Given the description of an element on the screen output the (x, y) to click on. 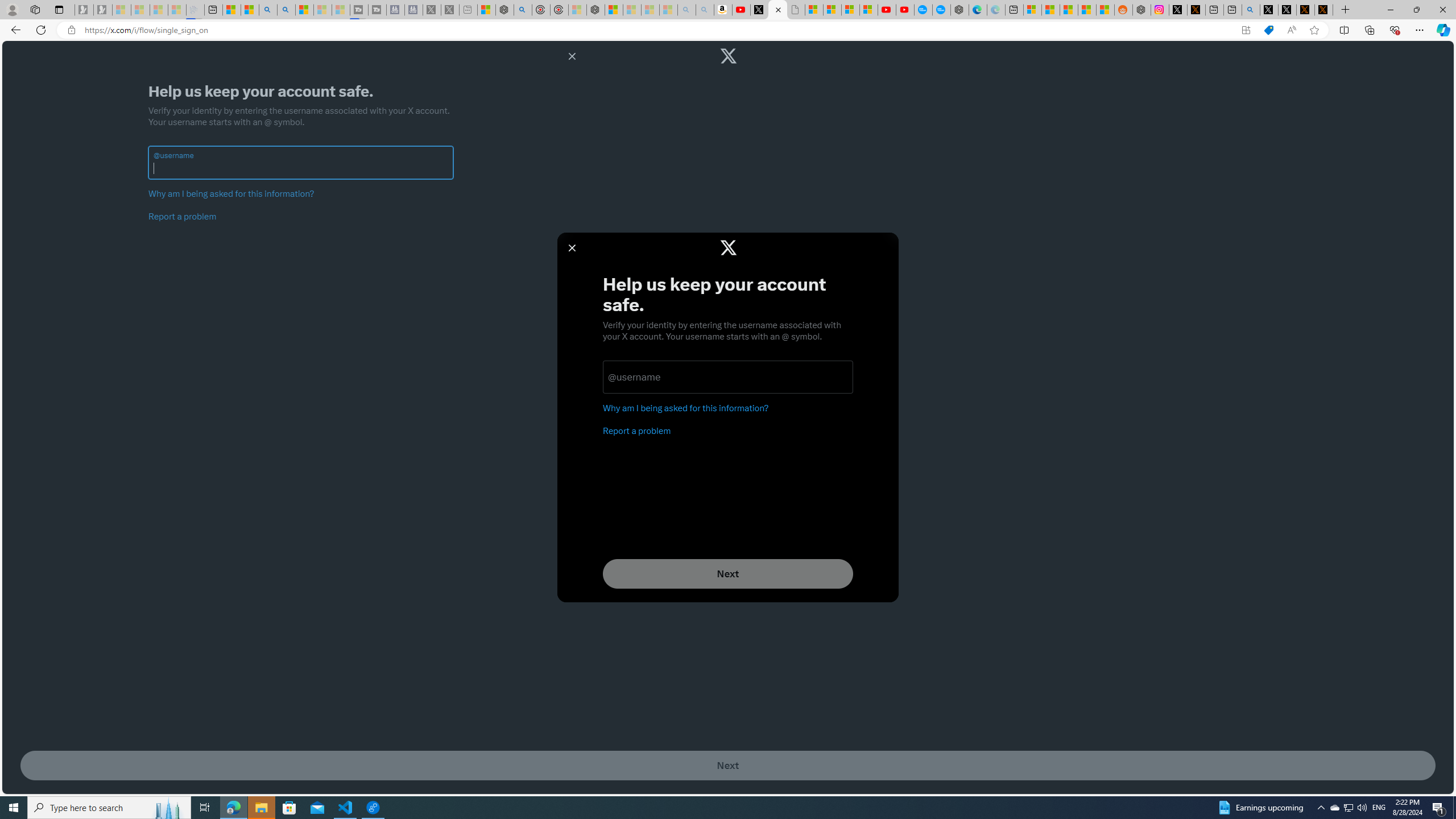
Next (727, 765)
poe - Search (523, 9)
Shanghai, China Weather trends | Microsoft Weather (1105, 9)
Newsletter Sign Up - Sleeping (102, 9)
@username (300, 167)
Shanghai, China hourly forecast | Microsoft Weather (1069, 9)
